Given the description of an element on the screen output the (x, y) to click on. 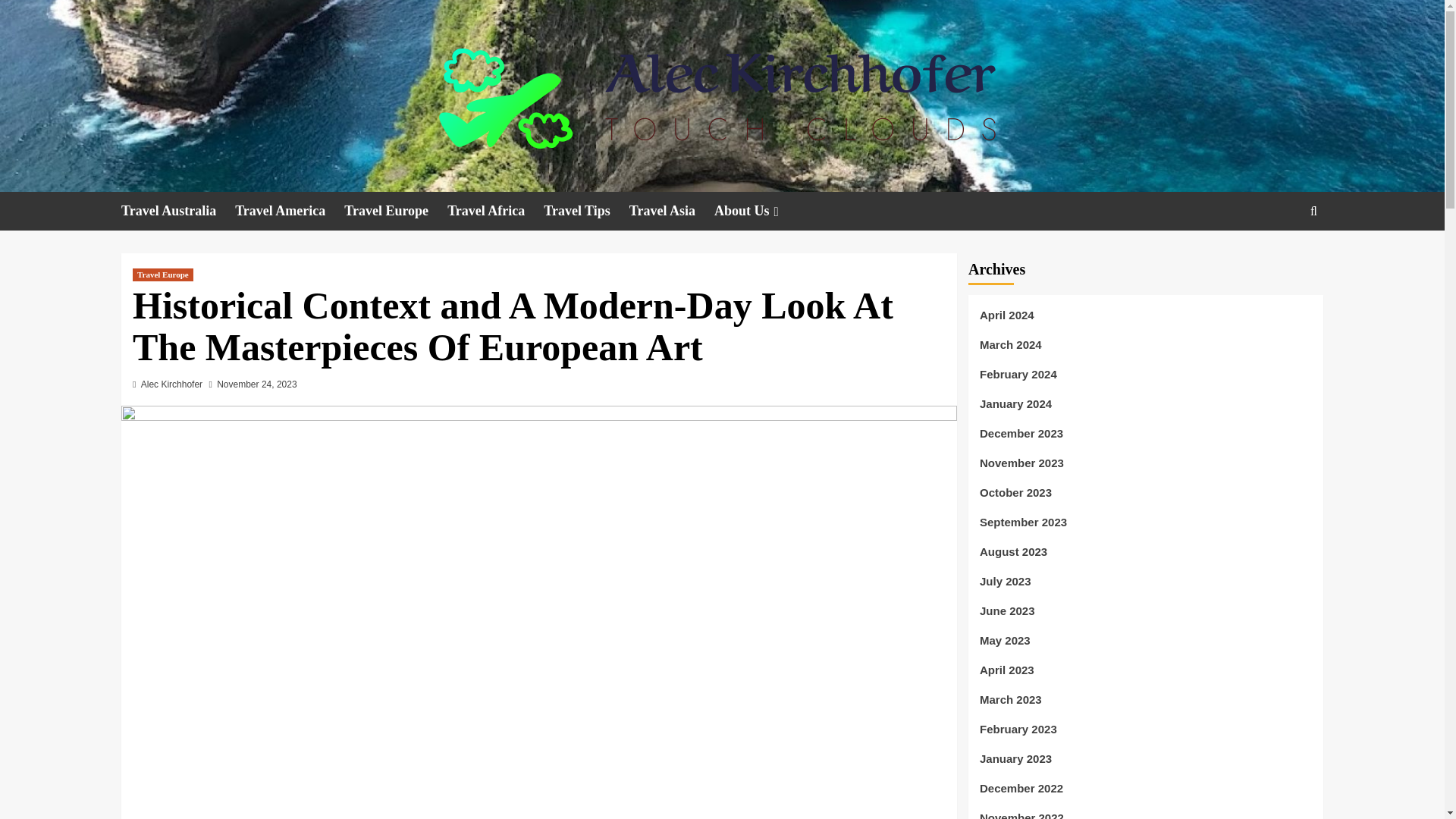
Travel Africa (494, 210)
Travel Australia (177, 210)
Travel Asia (671, 210)
Travel America (288, 210)
Alec Kirchhofer (171, 384)
Travel Europe (394, 210)
Travel Tips (585, 210)
Travel Europe (162, 274)
Search (1278, 257)
November 24, 2023 (256, 384)
About Us (758, 210)
